Given the description of an element on the screen output the (x, y) to click on. 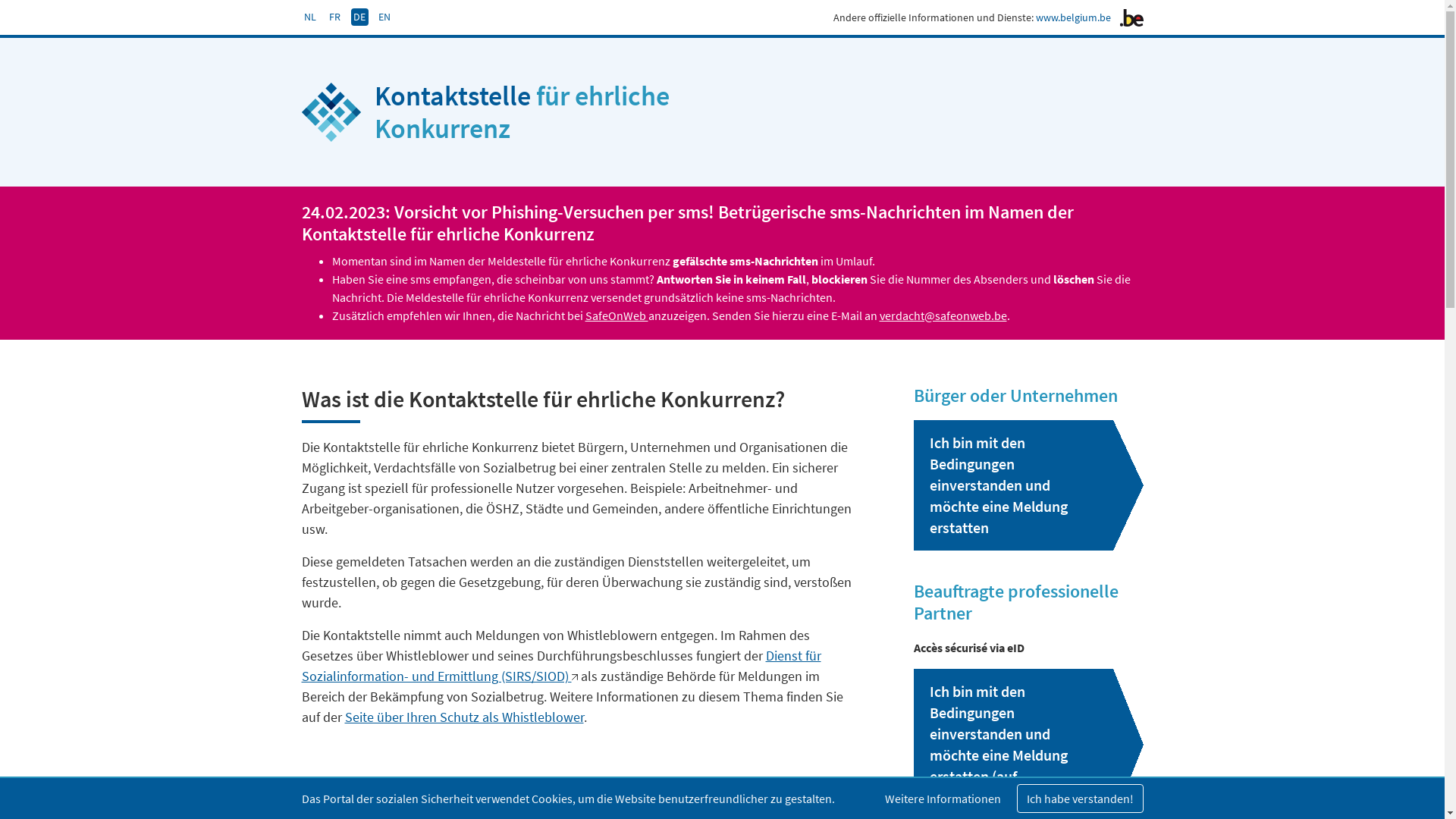
EN Element type: text (384, 16)
www.belgium.be
(neues Fenster) Element type: text (1072, 17)
Weitere Informationen Element type: text (942, 798)
FR Element type: text (334, 16)
SafeOnWeb
(neues Fenster) Element type: text (616, 315)
Ich habe verstanden! Element type: text (1079, 798)
verdacht@safeonweb.be Element type: text (943, 315)
NL Element type: text (310, 16)
